Given the description of an element on the screen output the (x, y) to click on. 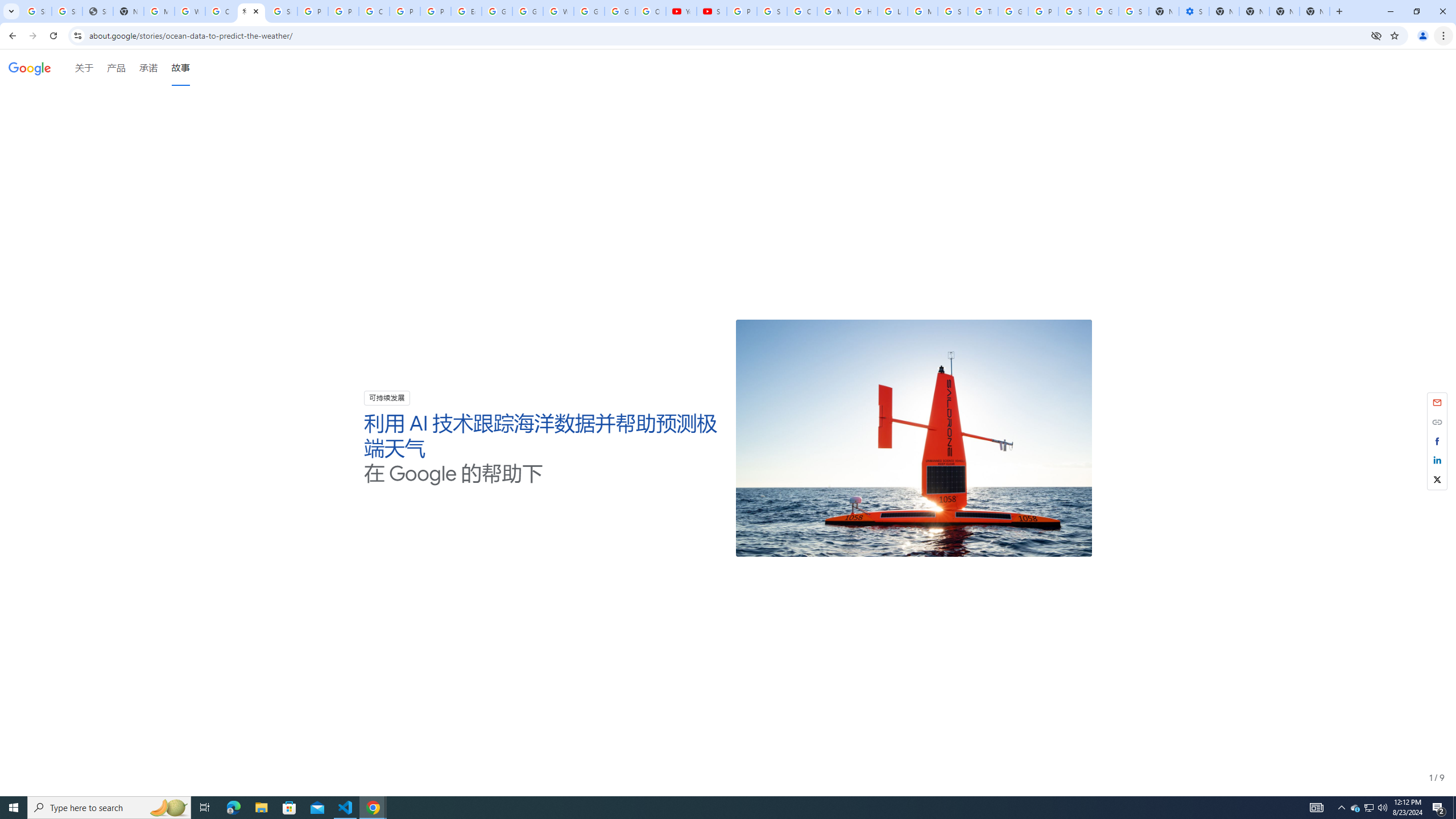
Create your Google Account (373, 11)
Google Account (619, 11)
Create your Google Account (220, 11)
